Given the description of an element on the screen output the (x, y) to click on. 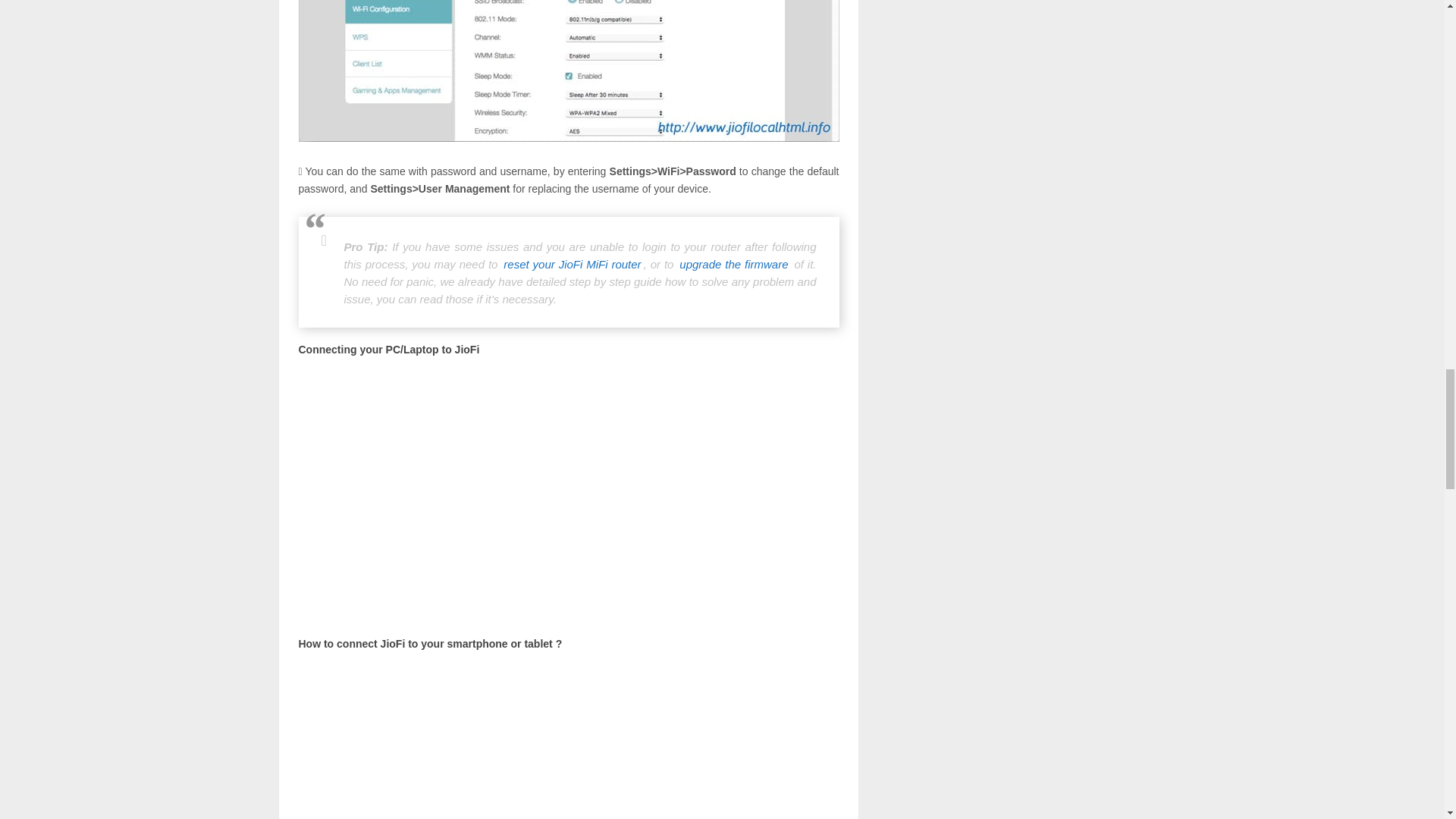
upgrade the firmware (733, 264)
reset your JioFi MiFi router (571, 264)
